Given the description of an element on the screen output the (x, y) to click on. 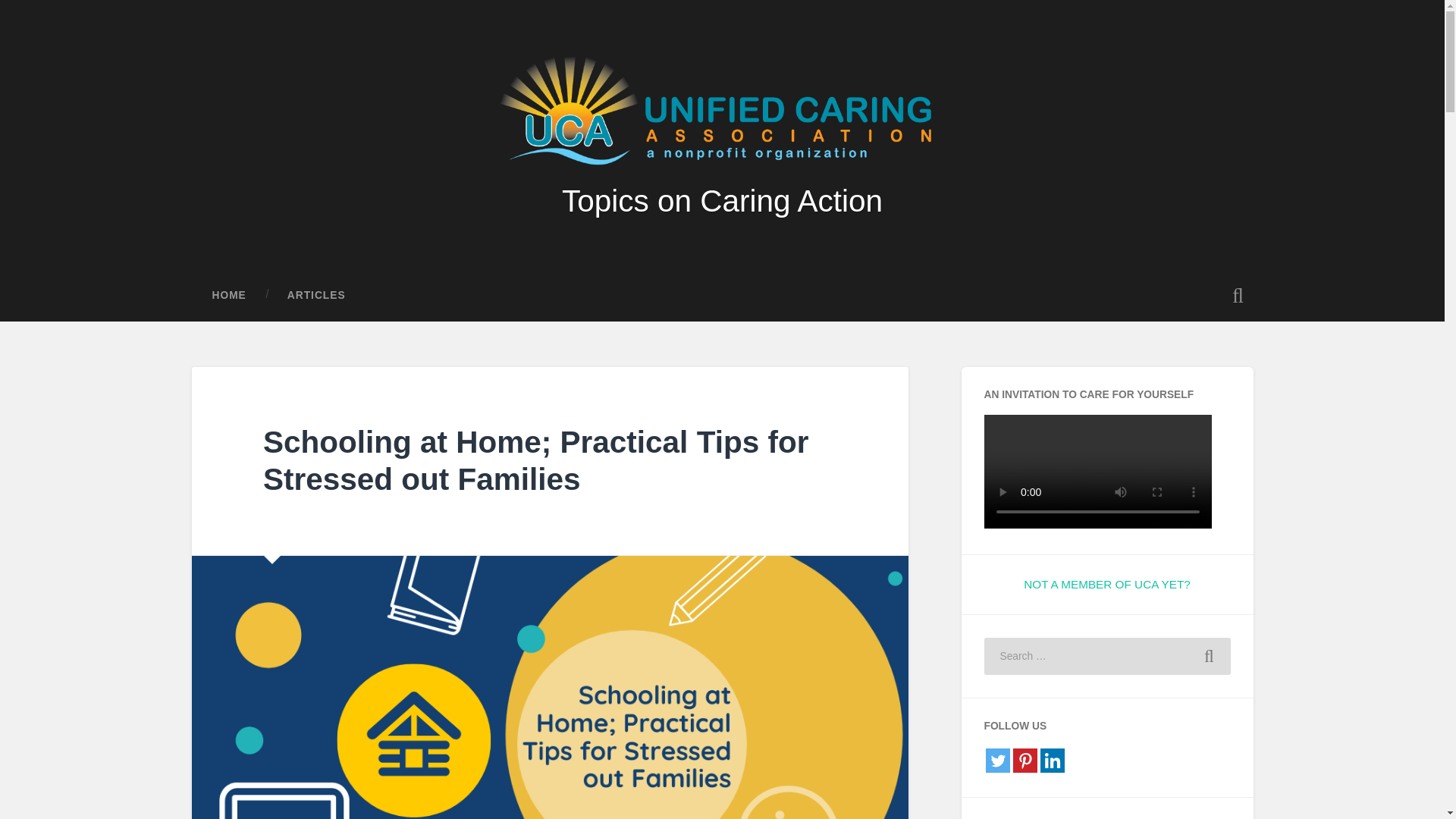
Schooling at Home; Practical Tips for Stressed out Families (535, 460)
Search (1209, 656)
Topics on Caring Action (722, 200)
ARTICLES (316, 295)
Search (1209, 656)
Linkedin (1052, 760)
Twitter (997, 760)
HOME (228, 295)
Pinterest (1024, 760)
